Given the description of an element on the screen output the (x, y) to click on. 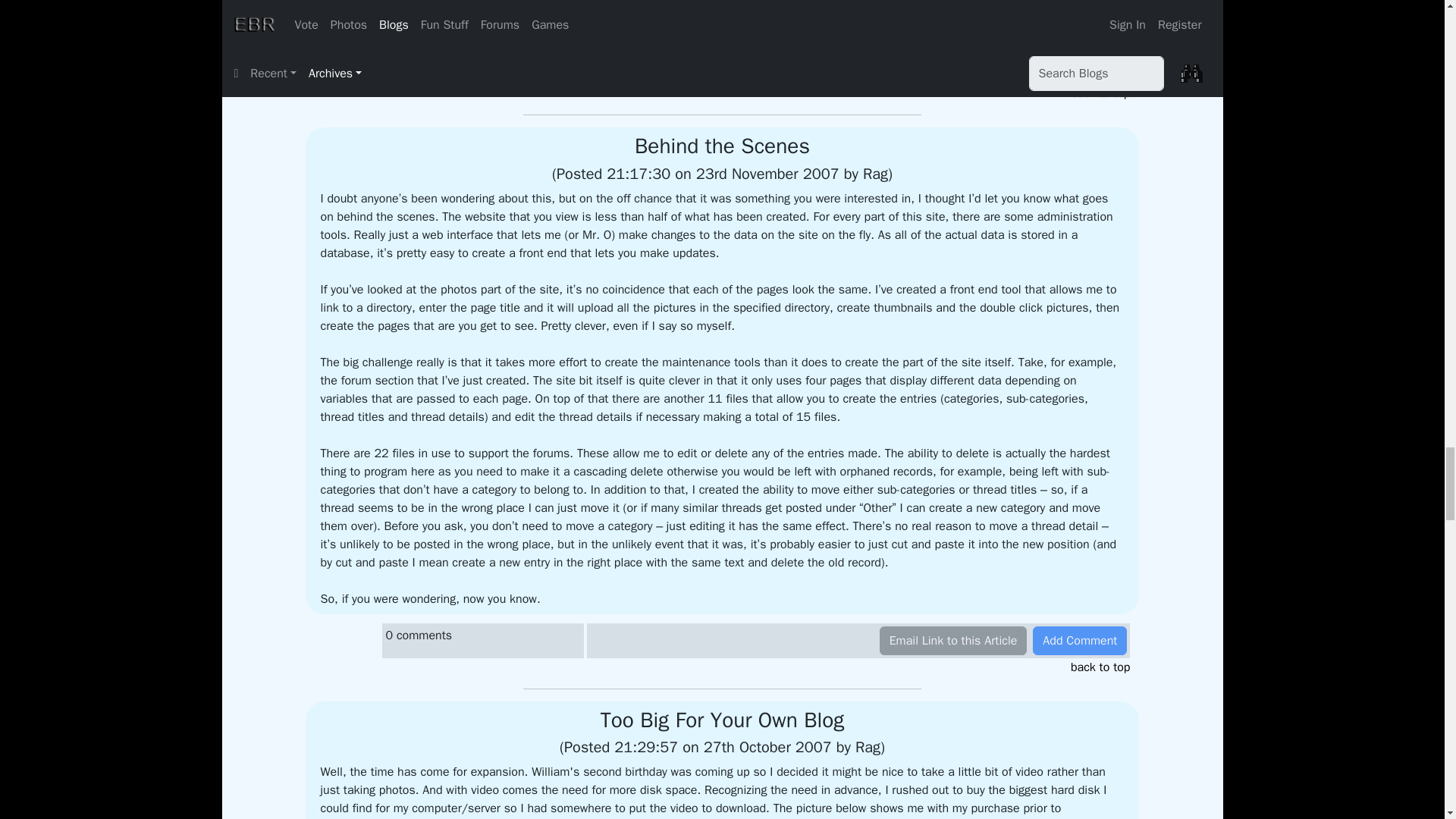
Add Comment (1079, 66)
Add Comment (1079, 640)
Email Link to this Article (953, 640)
Email Link to this Article (953, 66)
